Given the description of an element on the screen output the (x, y) to click on. 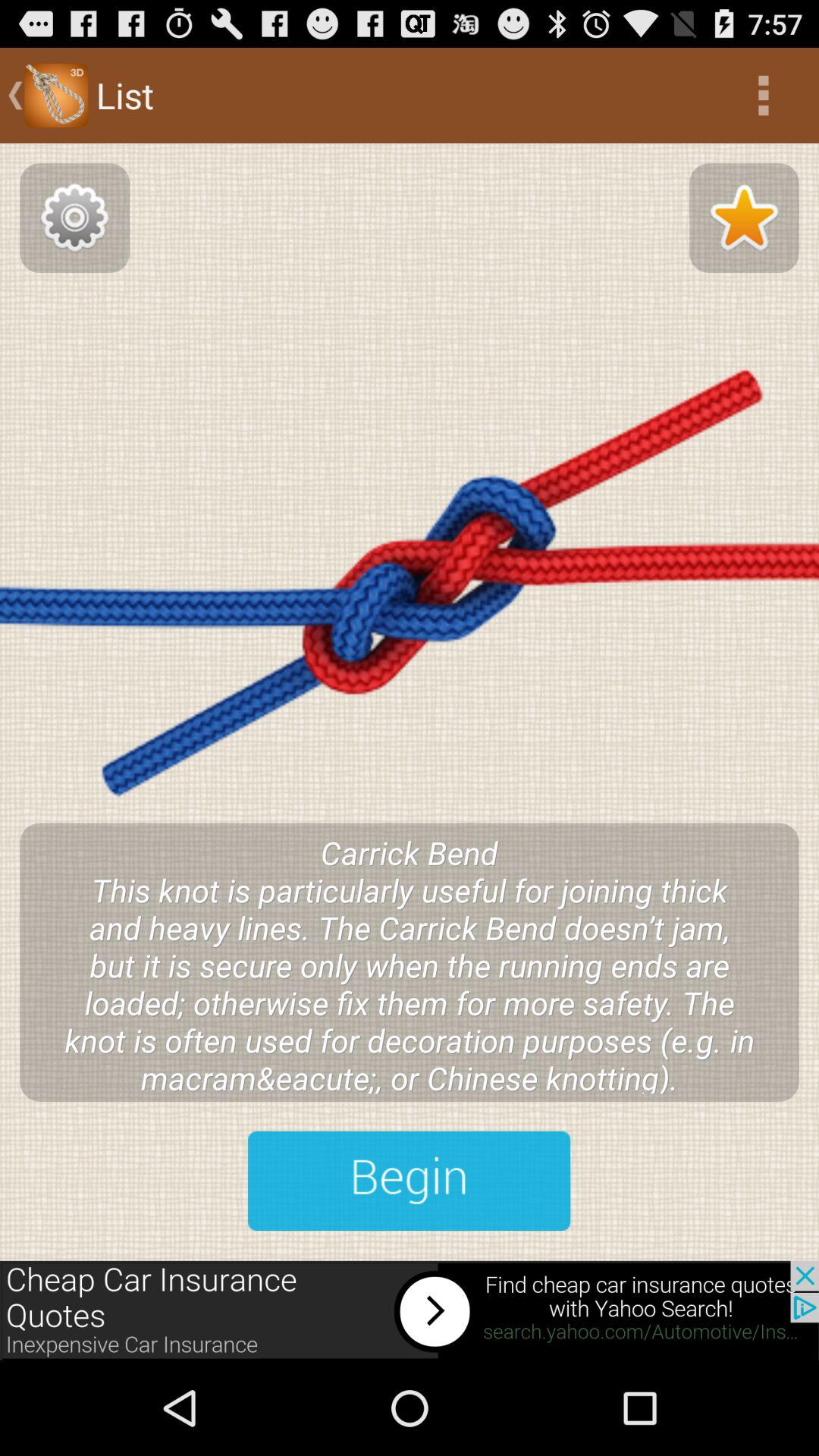
go to advertisement (409, 1310)
